Given the description of an element on the screen output the (x, y) to click on. 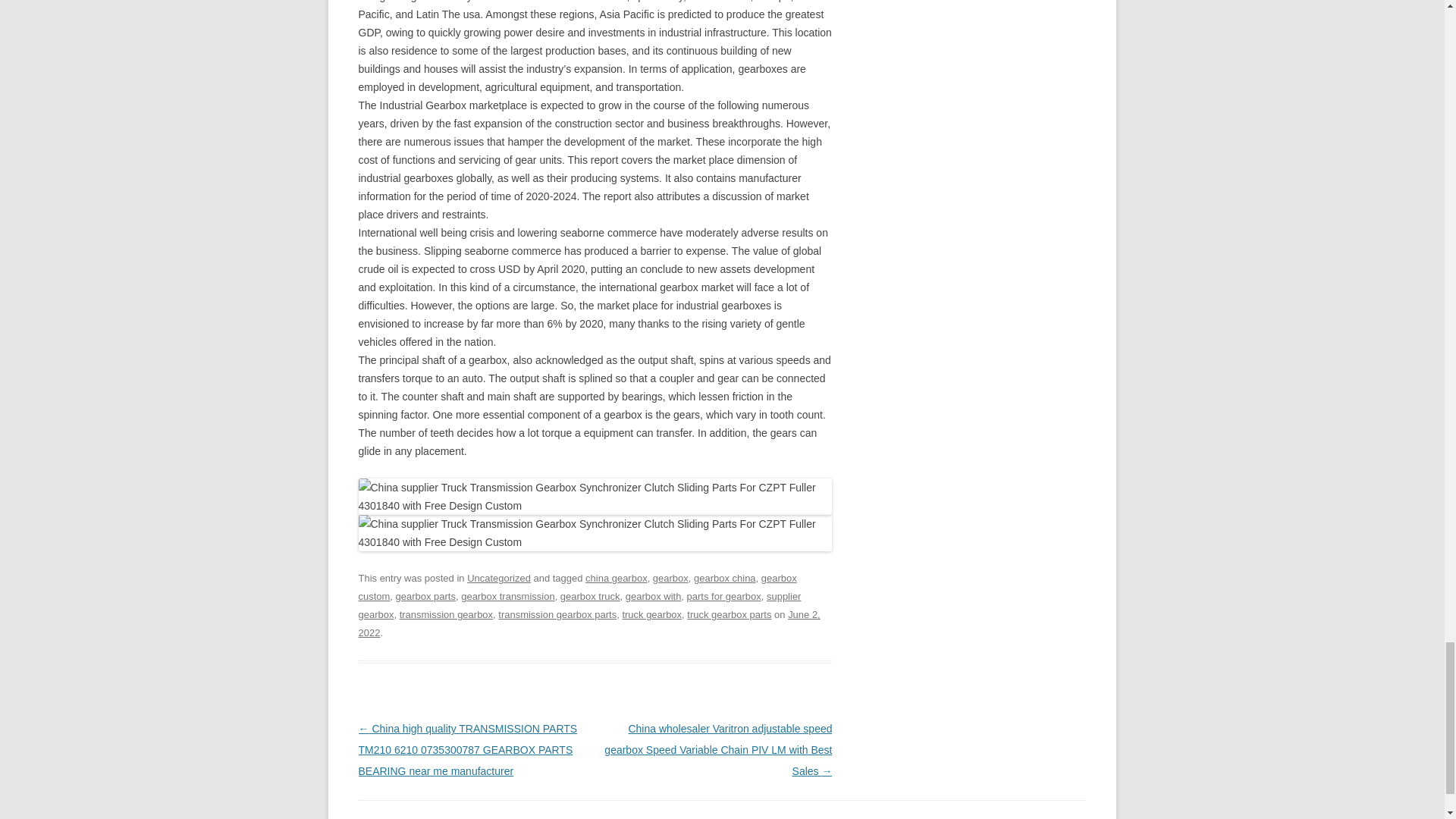
truck gearbox (651, 614)
gearbox china (724, 577)
china gearbox (616, 577)
June 2, 2022 (588, 623)
gearbox custom (577, 586)
gearbox transmission (507, 595)
gearbox parts (425, 595)
transmission gearbox (445, 614)
parts for gearbox (724, 595)
gearbox (670, 577)
truck gearbox parts (729, 614)
transmission gearbox parts (556, 614)
Uncategorized (499, 577)
gearbox truck (590, 595)
8:31 pm (588, 623)
